Given the description of an element on the screen output the (x, y) to click on. 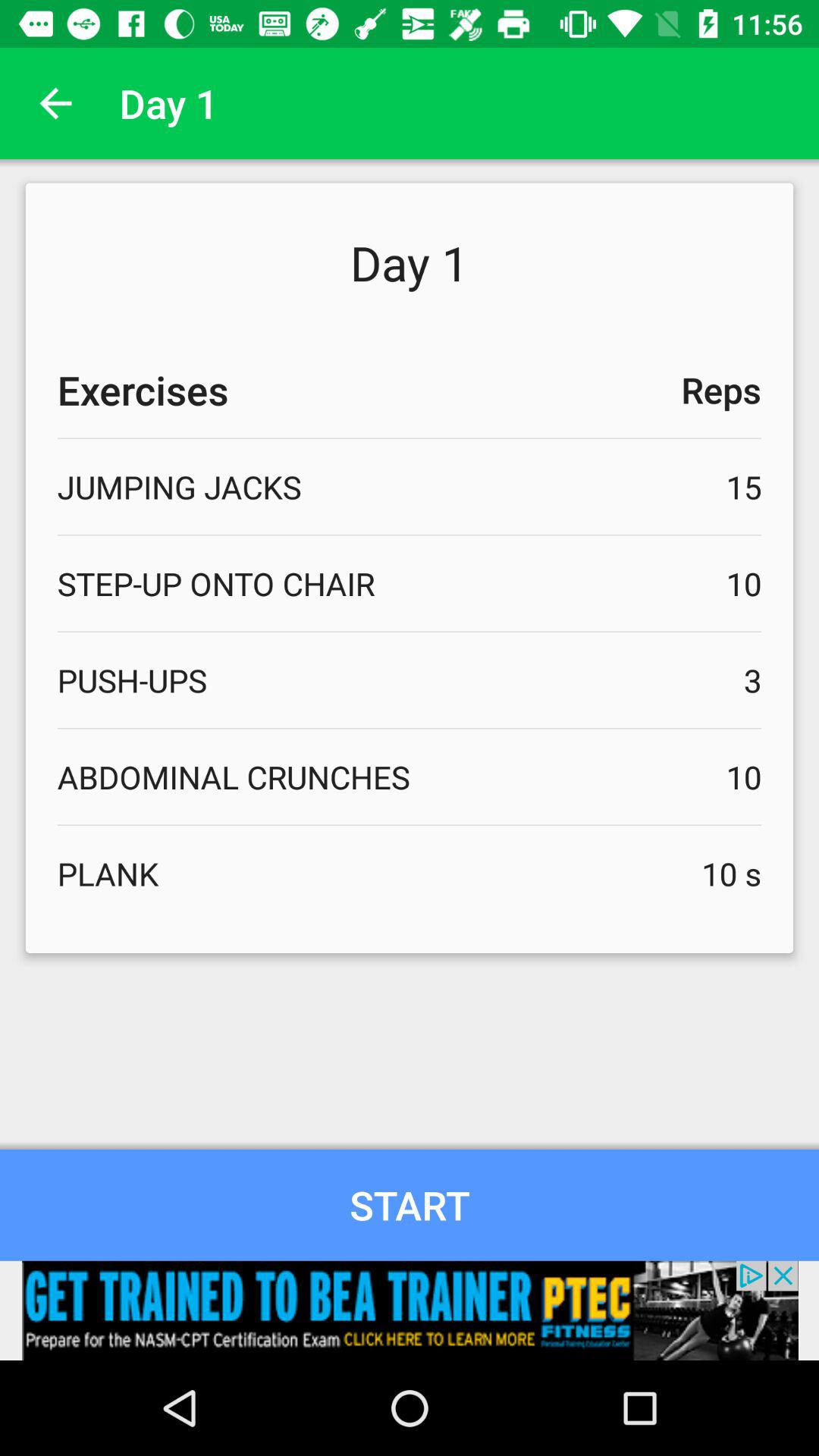
start (409, 1204)
